Given the description of an element on the screen output the (x, y) to click on. 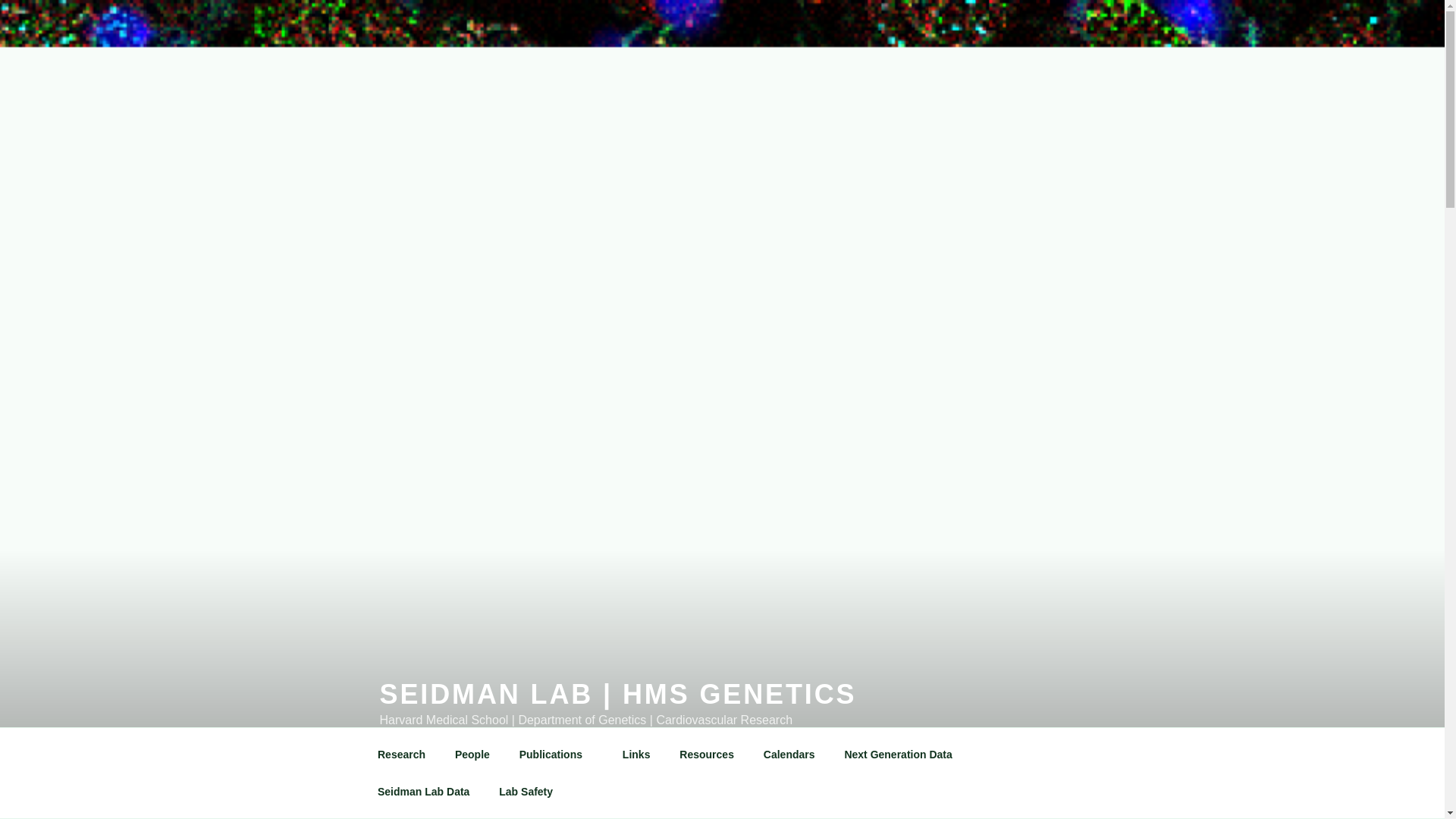
Scroll down to content (1082, 754)
Seidman Lab Data (422, 791)
Links (635, 754)
Lab Safety (526, 791)
Resources (707, 754)
Research (401, 754)
Scroll down to content (1082, 754)
Calendars (788, 754)
Next Generation Data (898, 754)
People (471, 754)
Publications (555, 754)
